Given the description of an element on the screen output the (x, y) to click on. 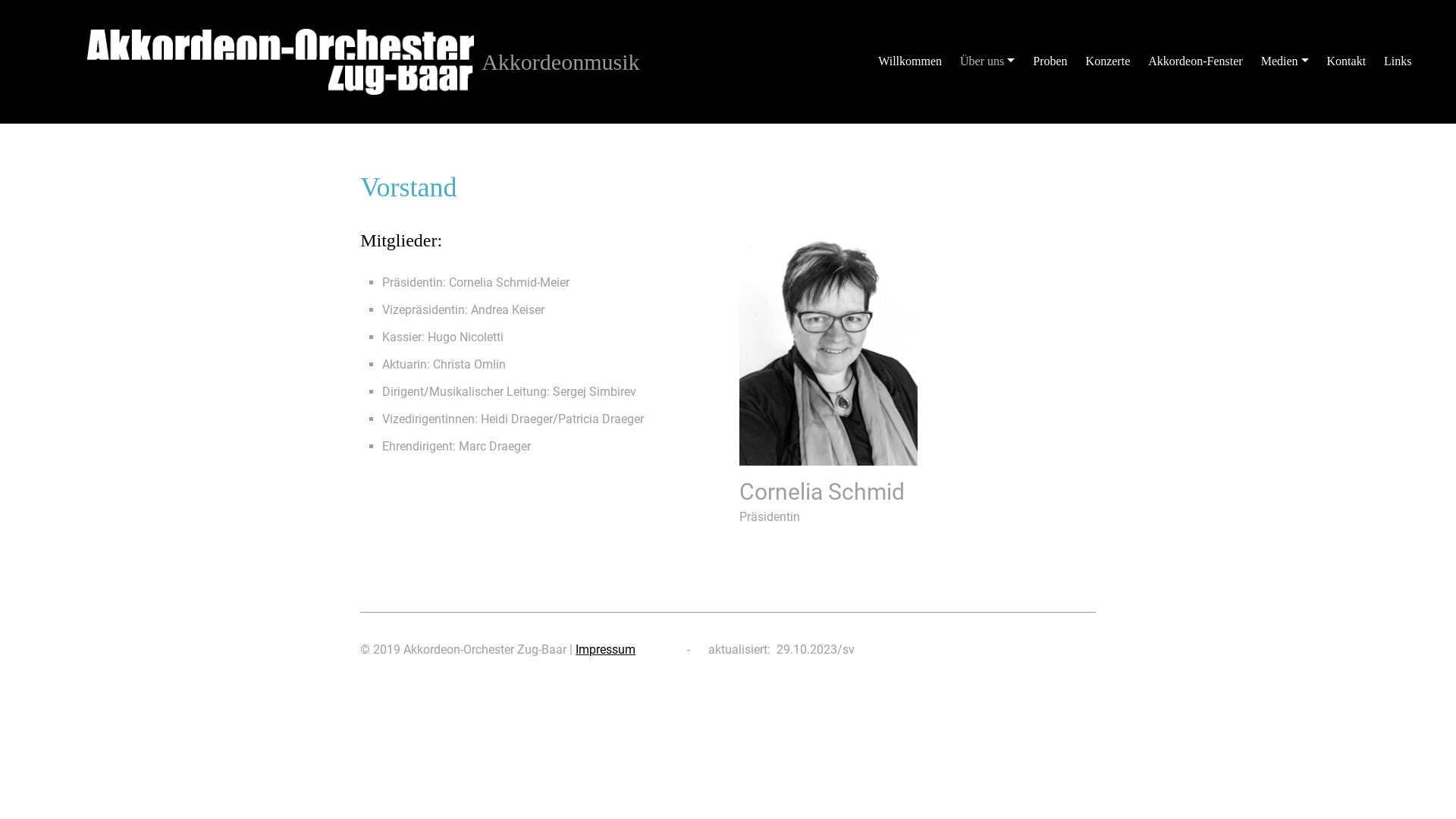
Cornelia Schmid Element type: hover (828, 346)
Proben Element type: text (1049, 61)
Links Element type: text (1397, 61)
Akkordeon-Fenster Element type: text (1195, 61)
Konzerte Element type: text (1107, 61)
Cornelia Schmid Element type: hover (917, 346)
Akkordeonmusik Element type: text (560, 61)
Willkommen Element type: text (909, 61)
Kontakt Element type: text (1346, 61)
logo Element type: hover (280, 61)
Impressum Element type: text (605, 649)
